Given the description of an element on the screen output the (x, y) to click on. 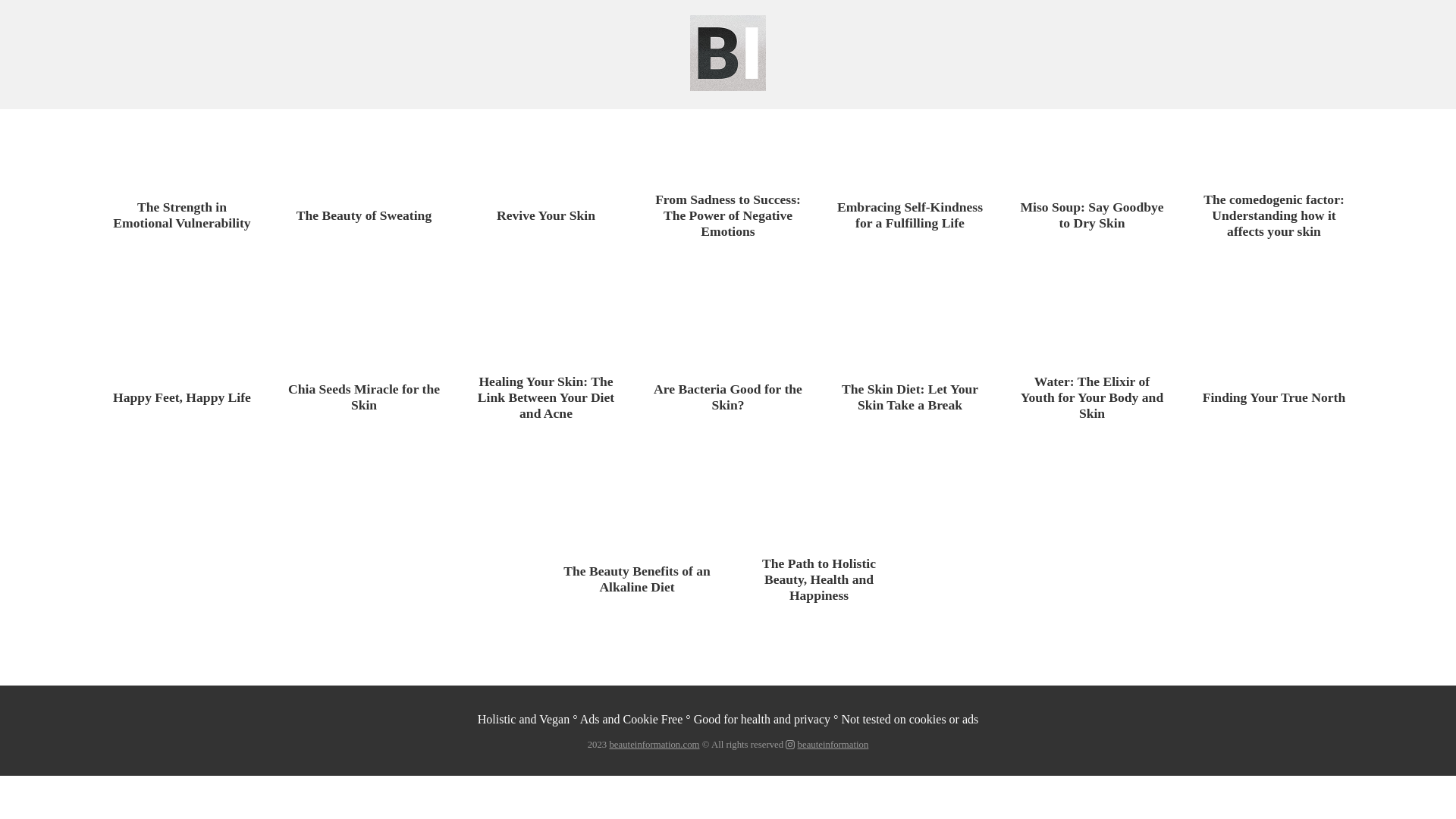
The Beauty Benefits of an Alkaline Diet Element type: text (636, 579)
Miso Soup: Say Goodbye to Dry Skin Element type: text (1091, 215)
The Beauty of Sweating Element type: text (363, 215)
The Strength in Emotional Vulnerability Element type: text (181, 215)
Chia Seeds Miracle for the Skin Element type: text (363, 397)
Embracing Self-Kindness for a Fulfilling Life Element type: text (909, 215)
Are Bacteria Good for the Skin? Element type: text (727, 397)
Revive Your Skin Element type: text (545, 215)
The Skin Diet: Let Your Skin Take a Break Element type: text (909, 397)
beauteinformation.com Element type: text (653, 744)
Water: The Elixir of Youth for Your Body and Skin Element type: text (1091, 396)
Finding Your True North Element type: text (1274, 397)
The Path to Holistic Beauty, Health and Happiness Element type: text (818, 578)
Happy Feet, Happy Life Element type: text (181, 397)
beauteinformation Element type: text (833, 744)
From Sadness to Success: The Power of Negative Emotions Element type: text (727, 214)
Healing Your Skin: The Link Between Your Diet and Acne Element type: text (545, 396)
